Given the description of an element on the screen output the (x, y) to click on. 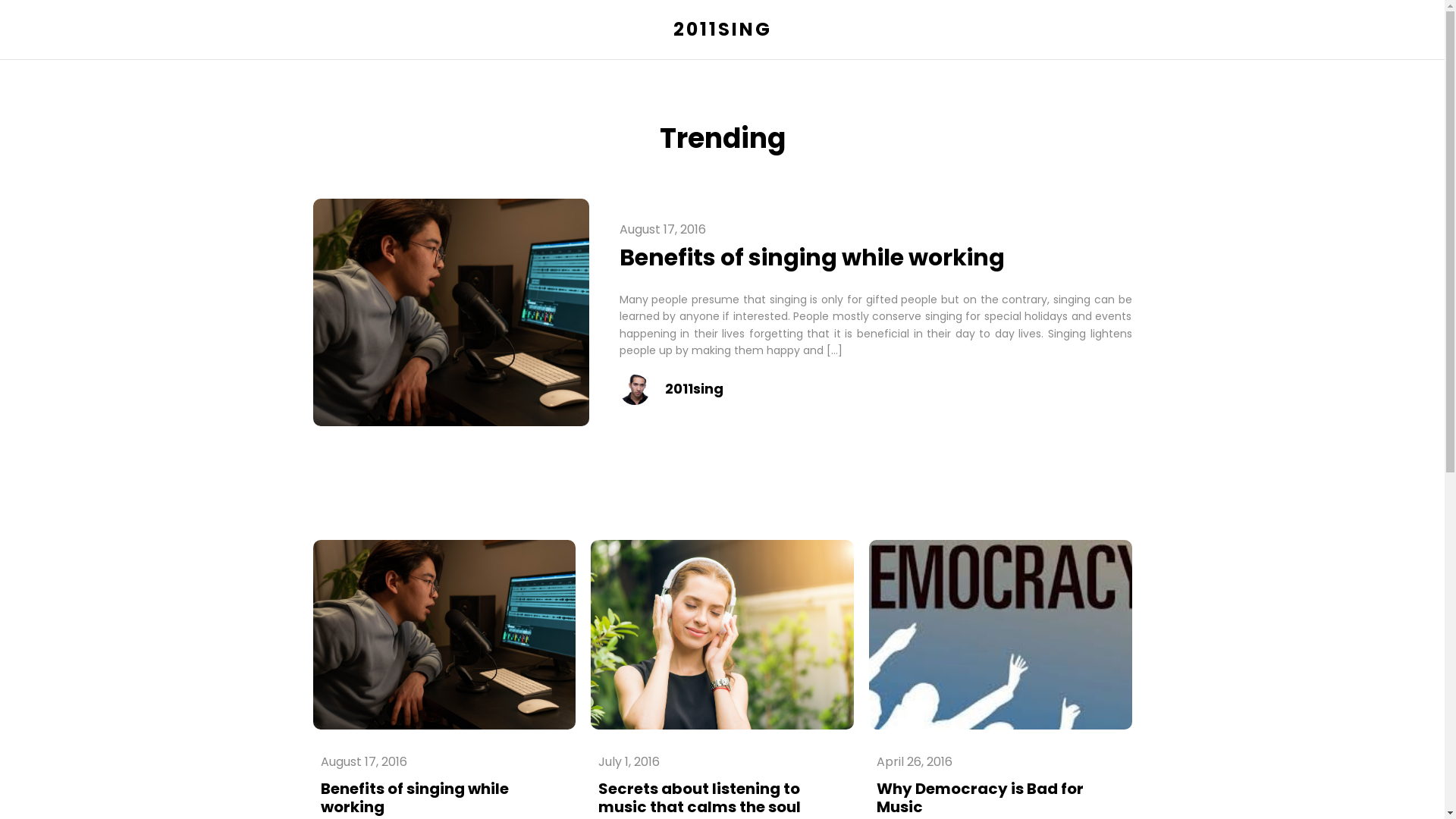
Why Democracy is Bad for Music Element type: text (979, 797)
Benefits of singing while working Element type: text (811, 257)
Secrets about listening to music that calms the soul Element type: text (699, 797)
2011SING Element type: text (722, 29)
Benefits of singing while working Element type: text (414, 797)
